Given the description of an element on the screen output the (x, y) to click on. 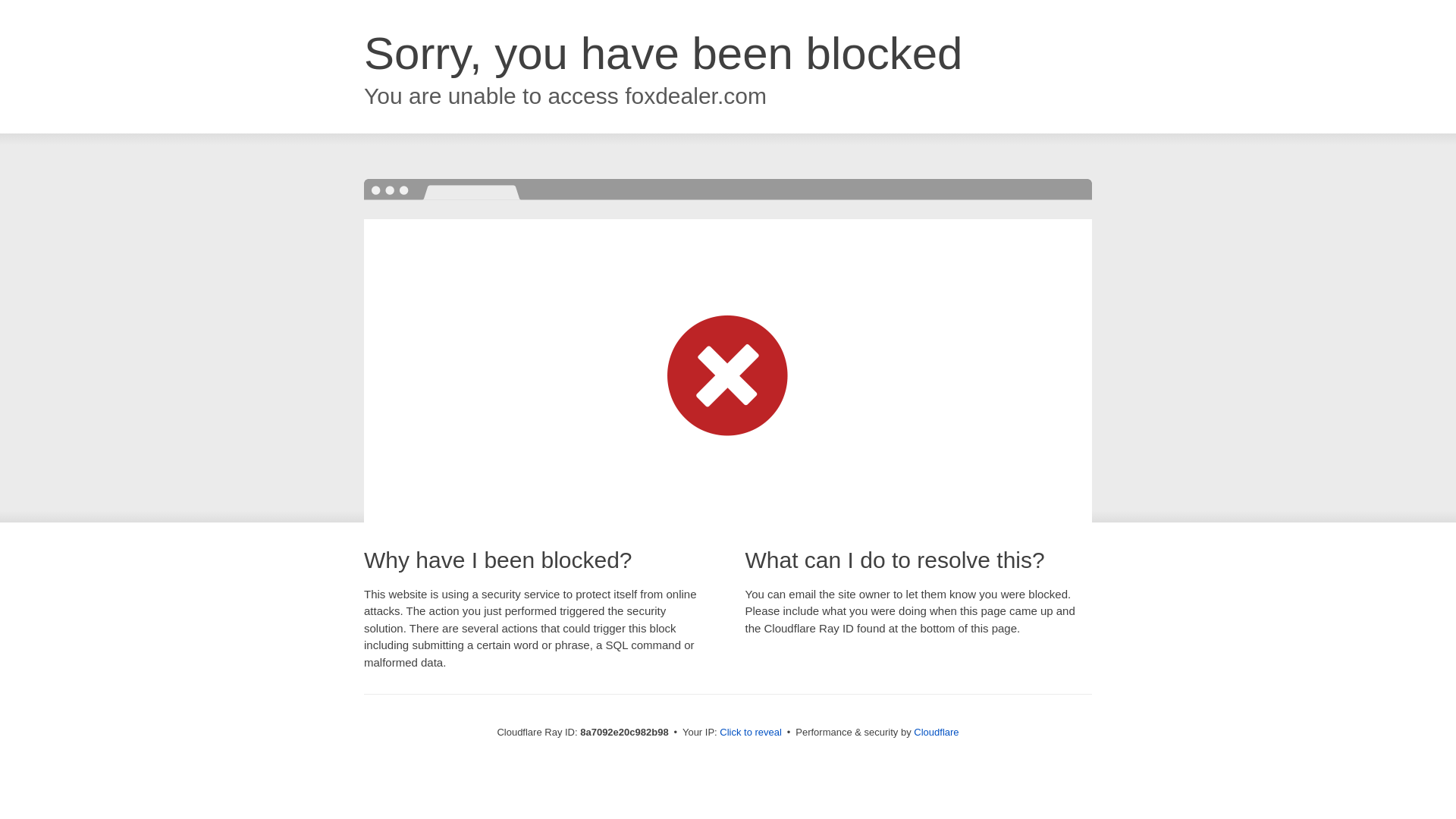
Click to reveal (750, 732)
Cloudflare (936, 731)
